Given the description of an element on the screen output the (x, y) to click on. 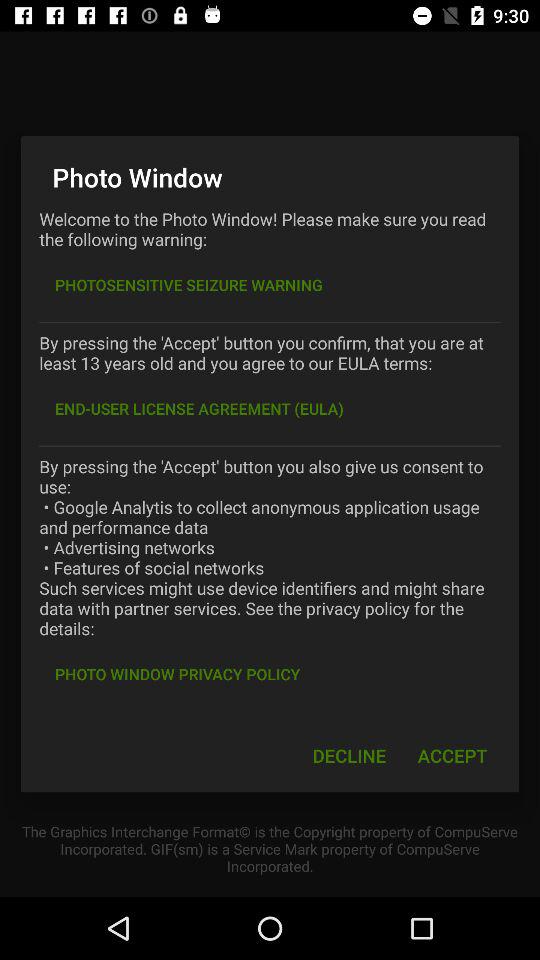
jump until the decline icon (349, 755)
